Given the description of an element on the screen output the (x, y) to click on. 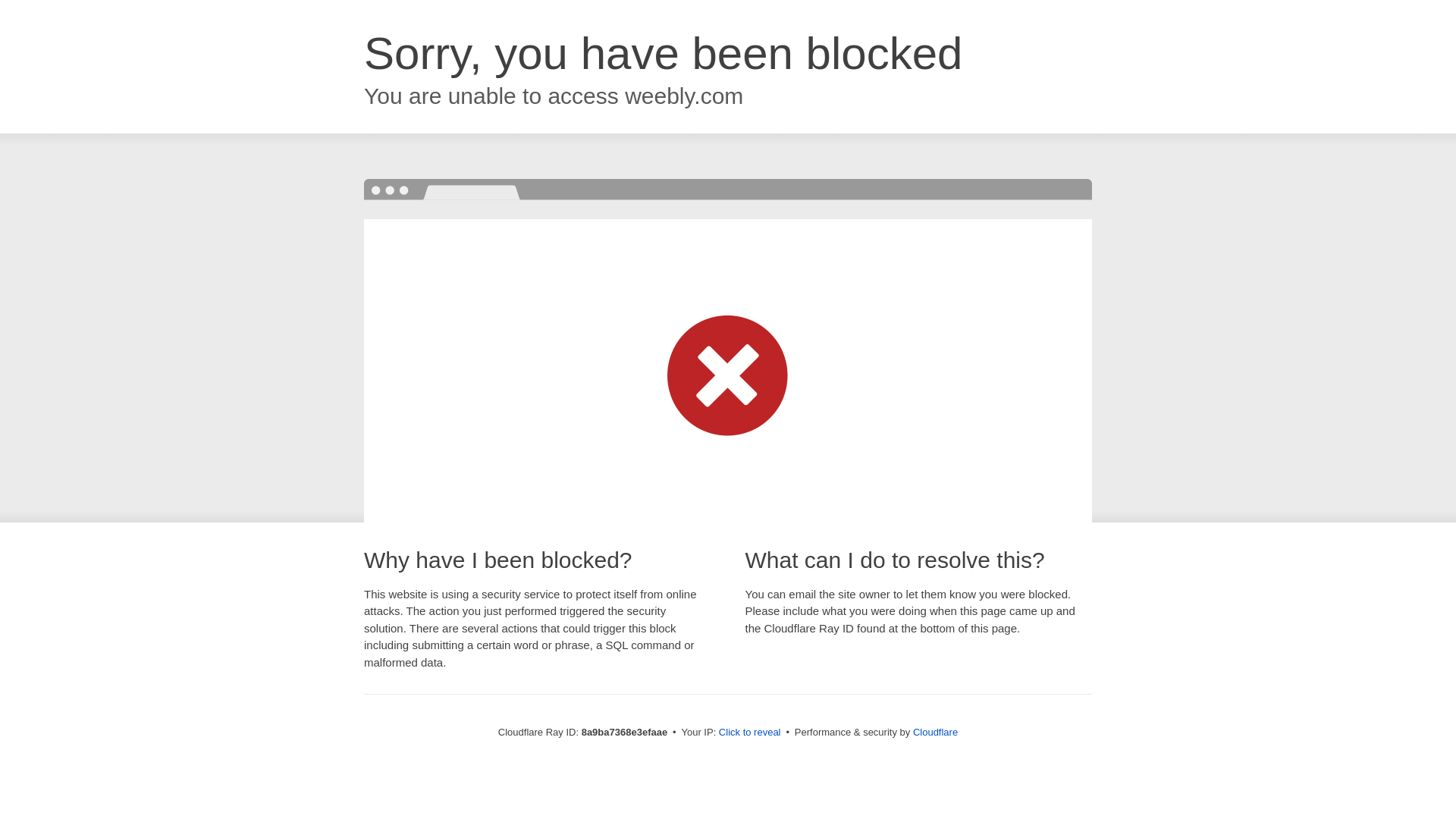
Click to reveal (749, 732)
Cloudflare (935, 731)
